Given the description of an element on the screen output the (x, y) to click on. 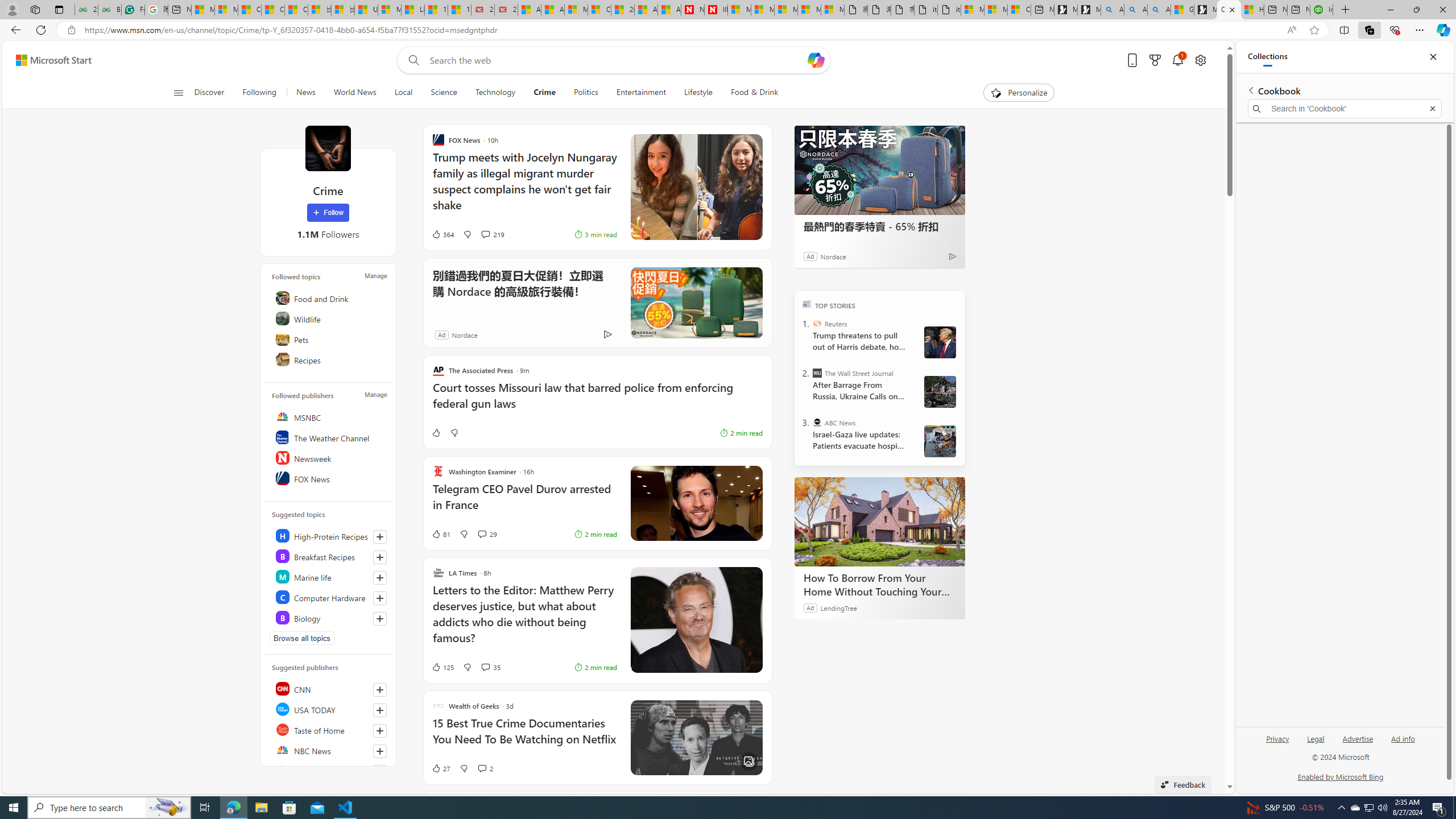
How to Use a TV as a Computer Monitor (1252, 9)
View comments 29 Comment (481, 533)
Alabama high school quarterback dies - Search (1112, 9)
View comments 35 Comment (485, 666)
Illness news & latest pictures from Newsweek.com (715, 9)
27 Like (440, 768)
